Given the description of an element on the screen output the (x, y) to click on. 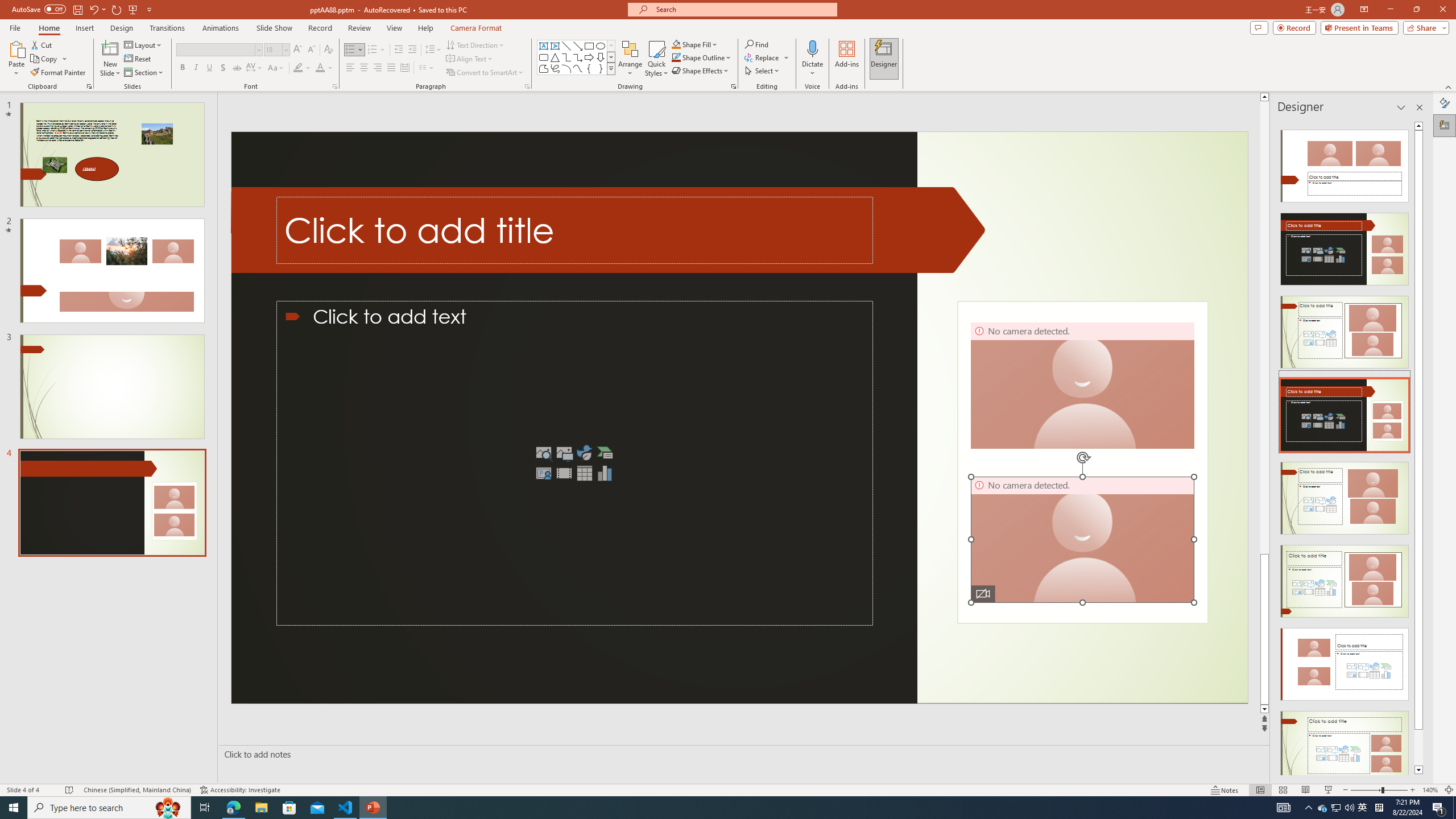
Class: MsoCommandBar (728, 789)
Isosceles Triangle (554, 57)
Designer (883, 58)
Line Arrow (577, 45)
Font (219, 49)
Decorative Locked (1082, 462)
Font Size (273, 49)
Distributed (404, 67)
Bullets (354, 49)
Connector: Elbow Arrow (577, 57)
